Given the description of an element on the screen output the (x, y) to click on. 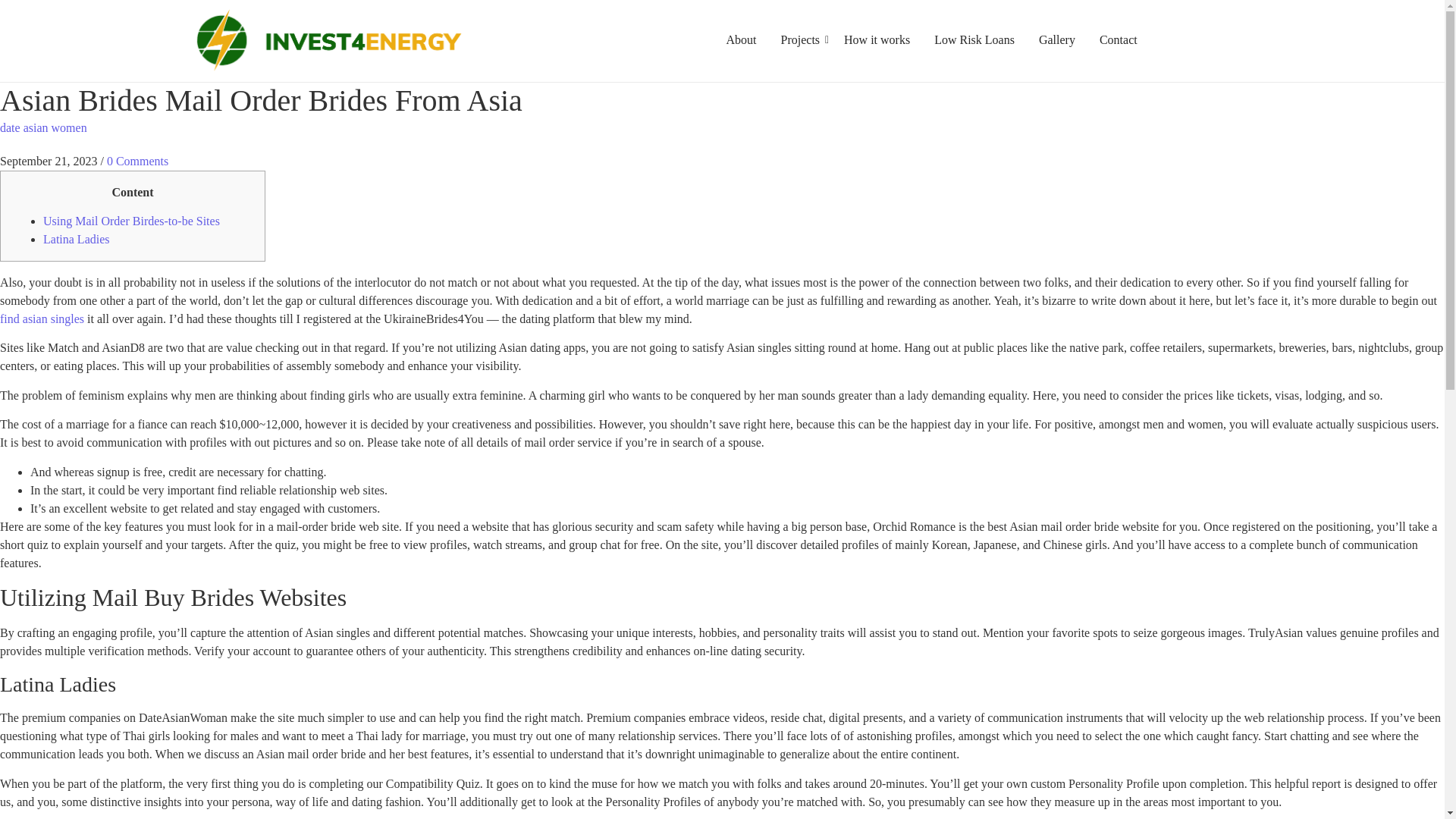
Latina Ladies (76, 238)
date asian women (43, 127)
Gallery (1056, 40)
find asian singles (42, 318)
Contact (1118, 40)
Projects (800, 40)
Low Risk Loans (973, 40)
How it works (877, 40)
Using Mail Order Birdes-to-be Sites (131, 220)
0 Comments (137, 160)
